Given the description of an element on the screen output the (x, y) to click on. 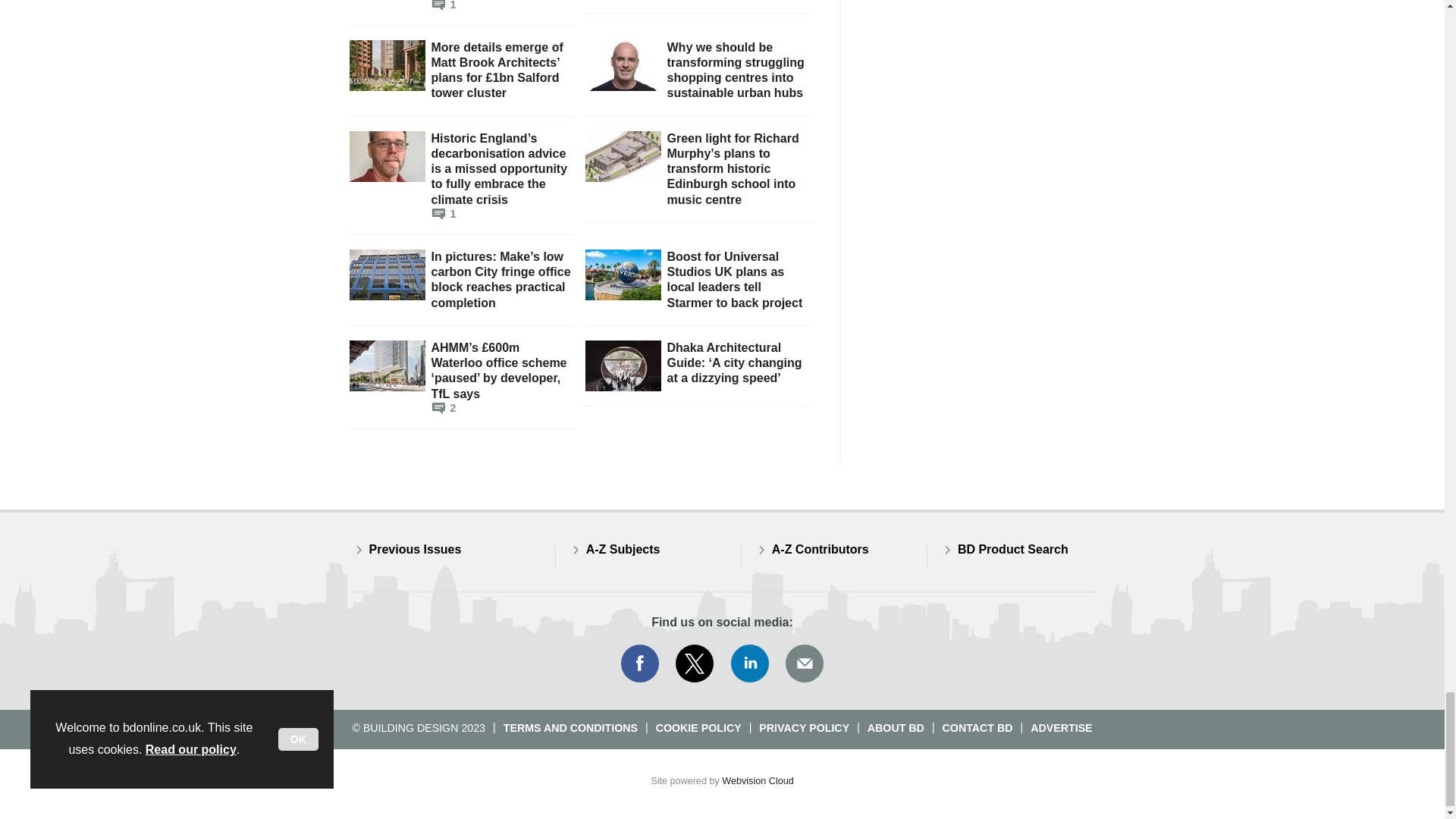
Connect with us on Twitter (694, 663)
Email us (804, 663)
Connect with us on Linked in (750, 663)
Connect with us on Facebook (639, 663)
